Given the description of an element on the screen output the (x, y) to click on. 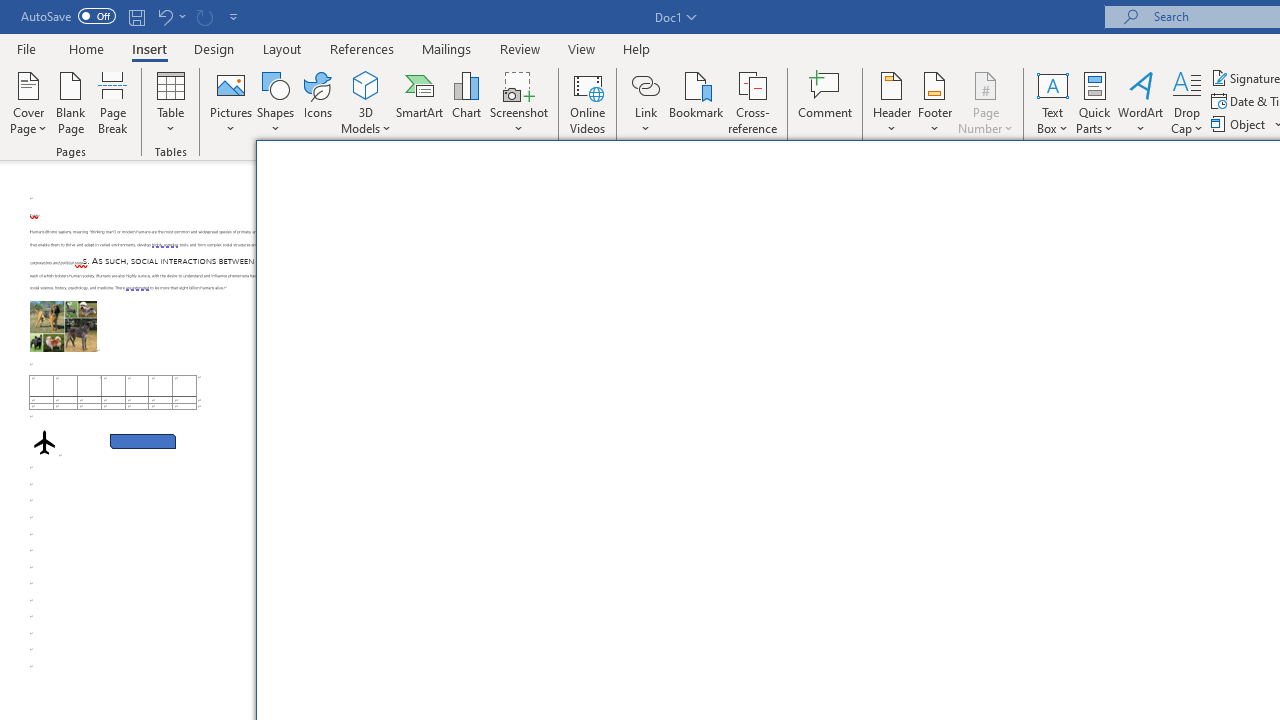
Cross-reference... (752, 102)
Page Number (986, 102)
Comment (825, 102)
Icons (317, 102)
Header (891, 102)
Icons (388, 258)
Object... (1240, 124)
Screenshot (518, 102)
